Given the description of an element on the screen output the (x, y) to click on. 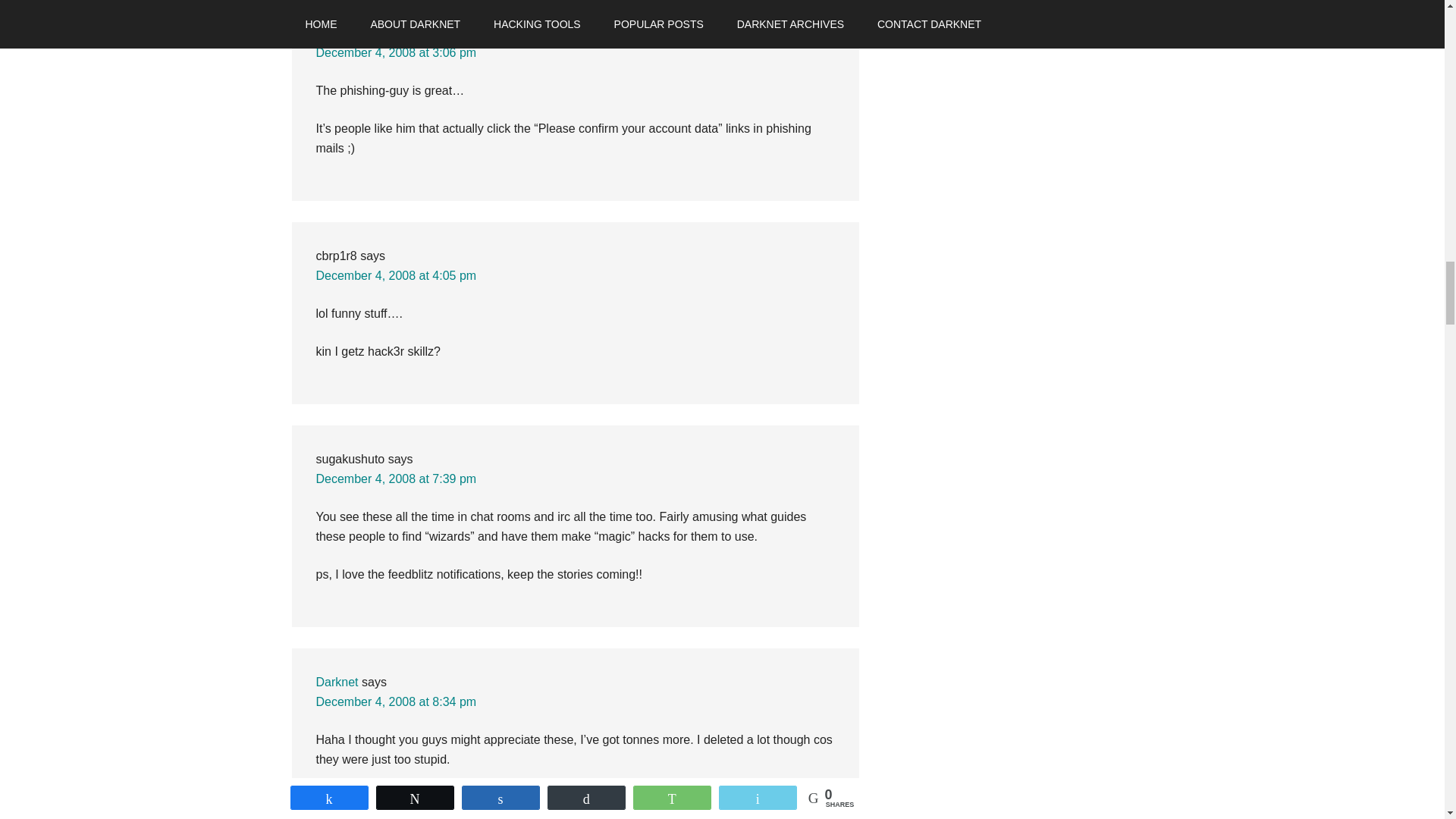
December 4, 2008 at 3:06 pm (395, 51)
December 4, 2008 at 7:39 pm (395, 478)
December 4, 2008 at 4:05 pm (395, 275)
Darknet (336, 681)
December 4, 2008 at 8:34 pm (395, 701)
